Given the description of an element on the screen output the (x, y) to click on. 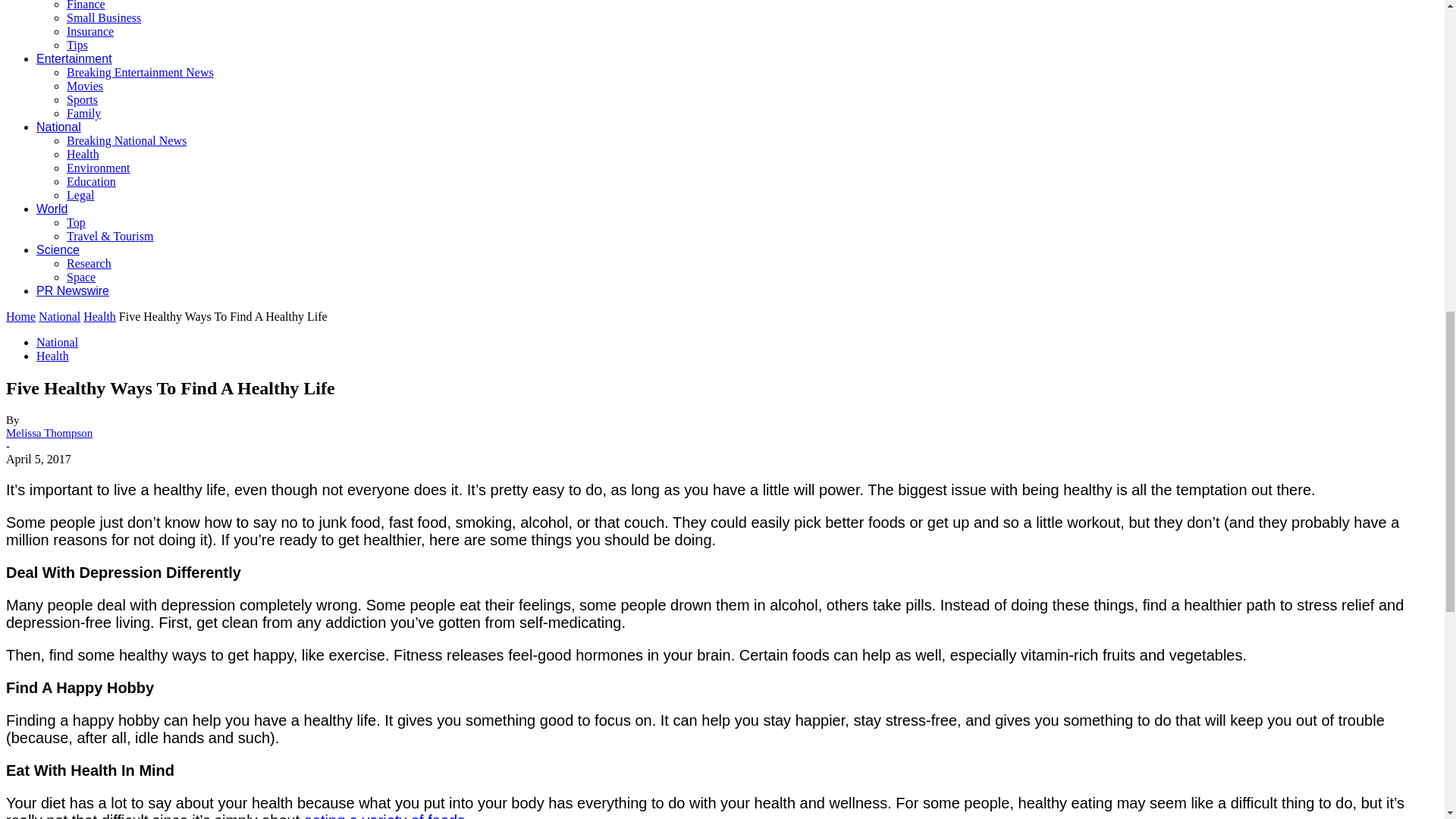
View all posts in National (59, 316)
View all posts in Health (99, 316)
